Given the description of an element on the screen output the (x, y) to click on. 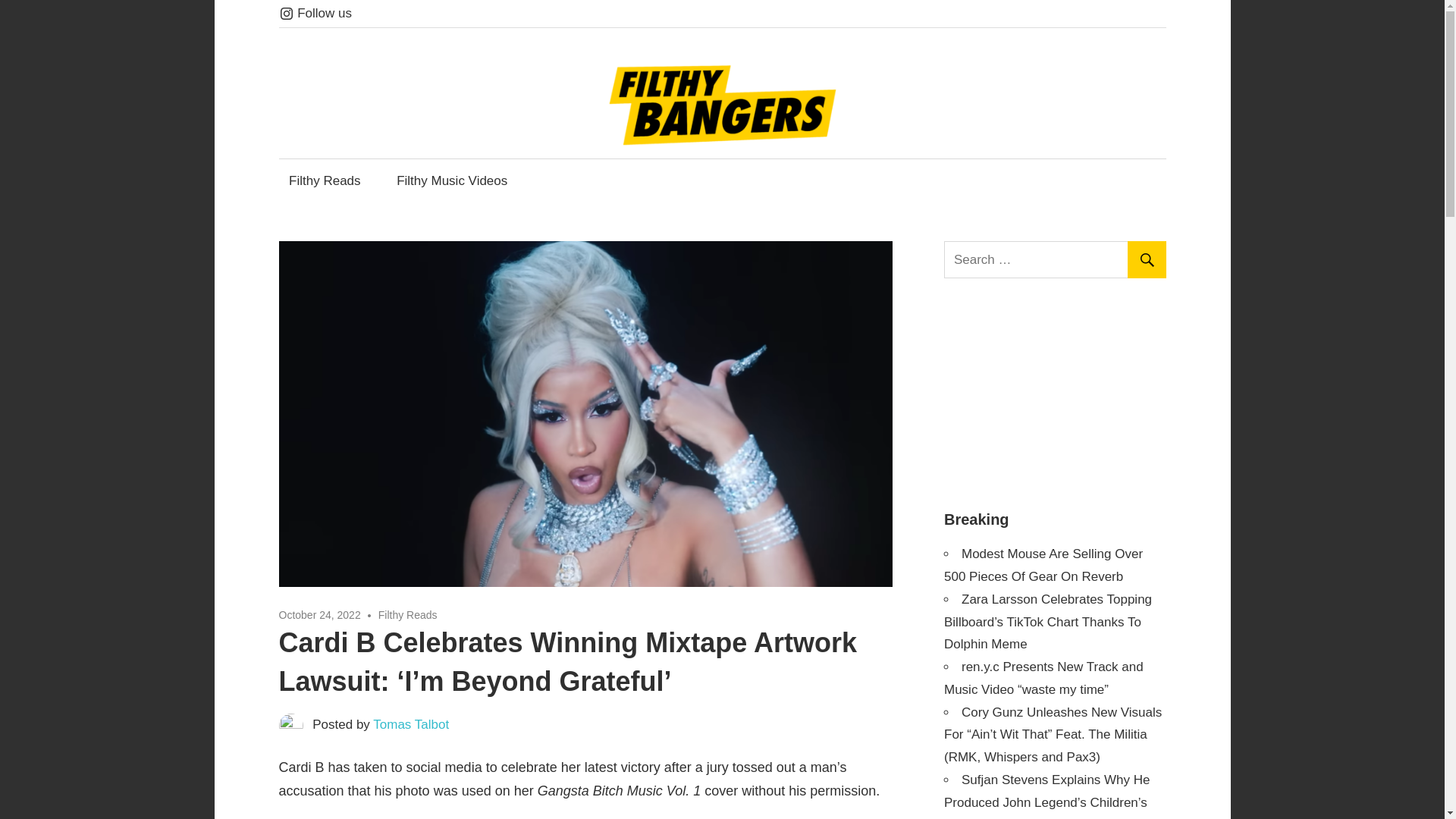
Filthy Reads (325, 180)
Filthy Reads (408, 614)
View all posts by Tomas Talbot (410, 724)
Filthy Music Videos (452, 180)
Follow us (315, 12)
Tomas Talbot (410, 724)
Modest Mouse Are Selling Over 500 Pieces Of Gear On Reverb (1042, 565)
2:55 am (320, 614)
Search for: (1057, 259)
October 24, 2022 (320, 614)
